Given the description of an element on the screen output the (x, y) to click on. 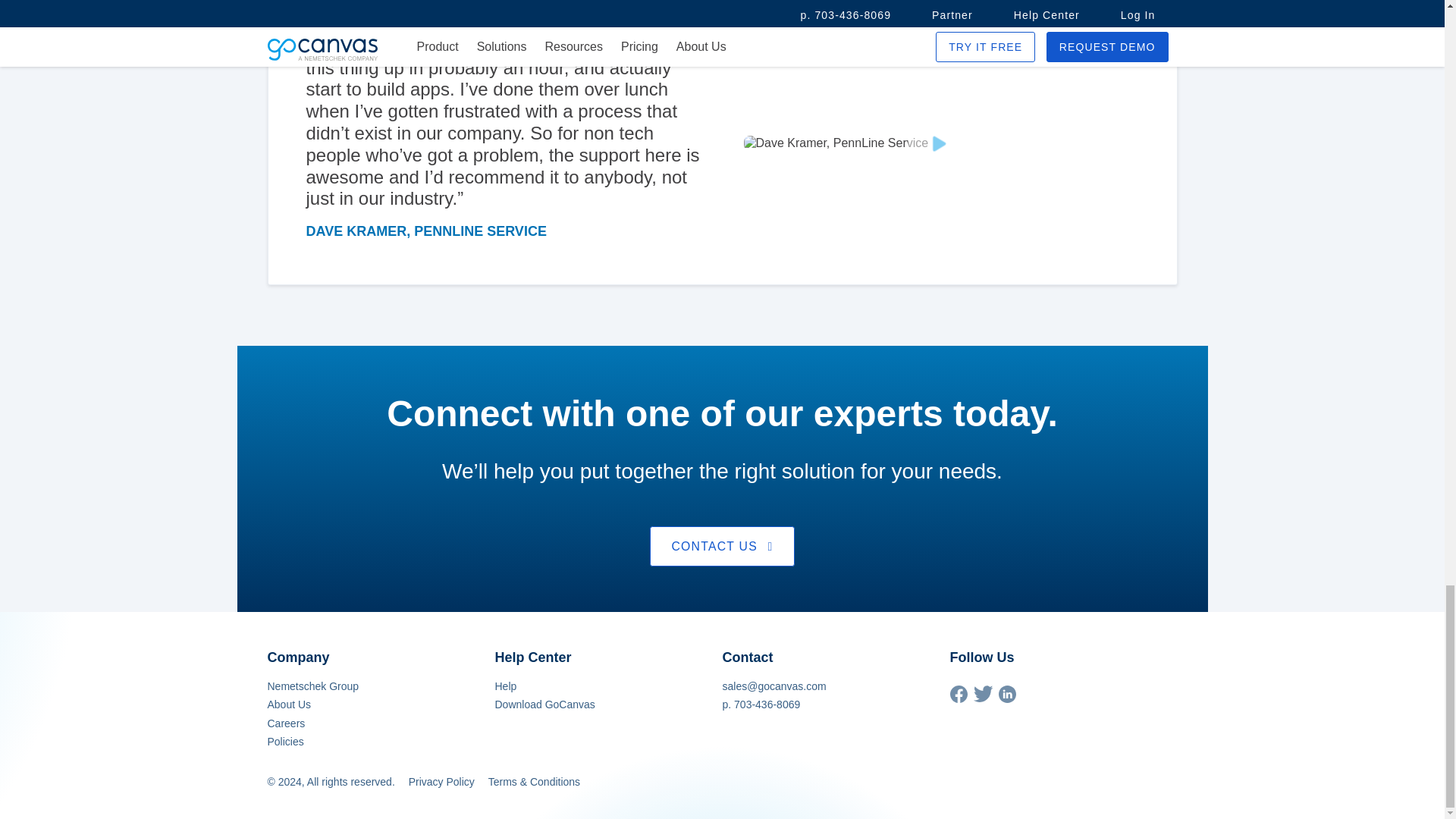
GoCanvas LinkedIn (1005, 698)
GoCanvas Twitter (982, 698)
GoCanvas Facebook (957, 698)
